Given the description of an element on the screen output the (x, y) to click on. 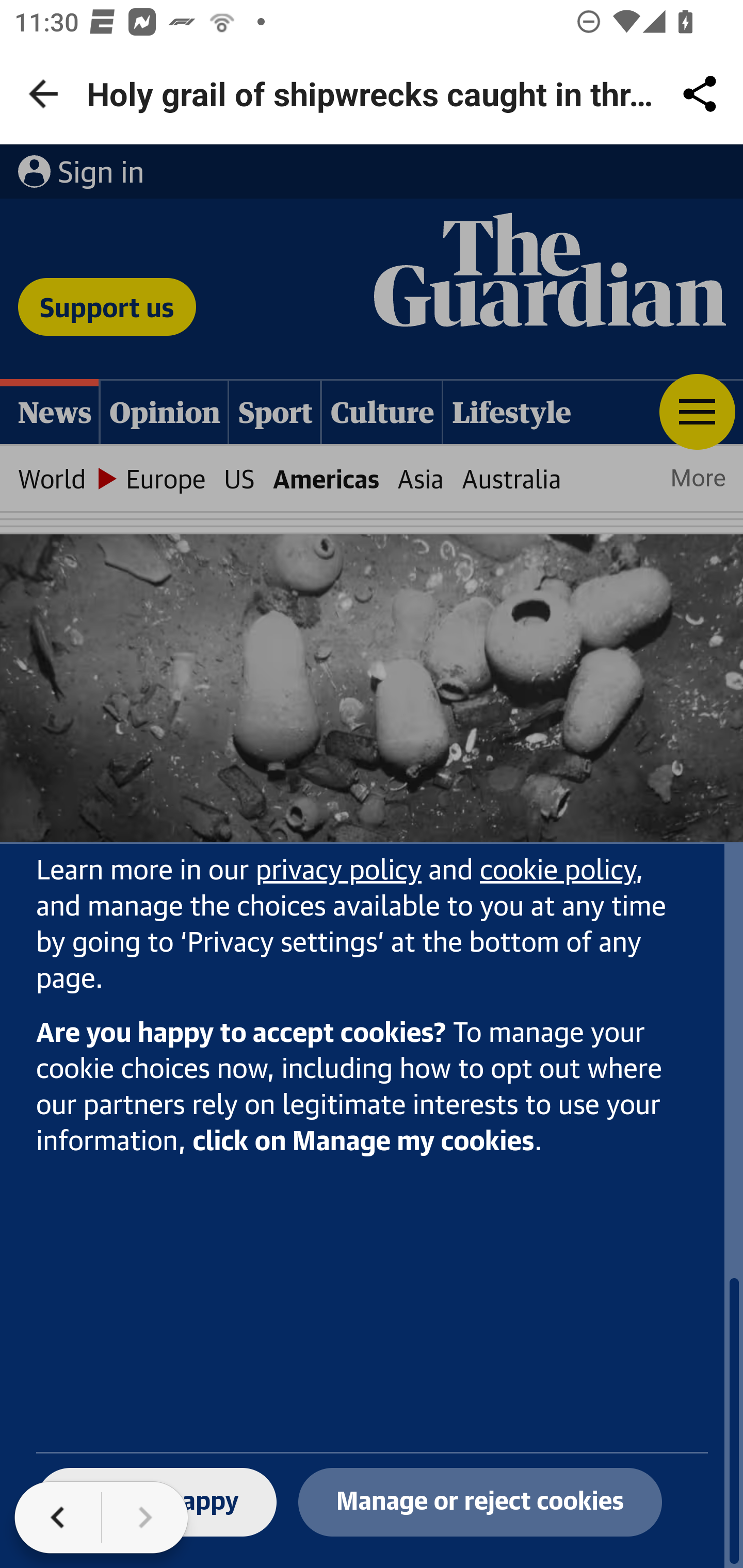
privacy policy (338, 871)
message-link (557, 871)
Manage or reject cookies (479, 1502)
